Given the description of an element on the screen output the (x, y) to click on. 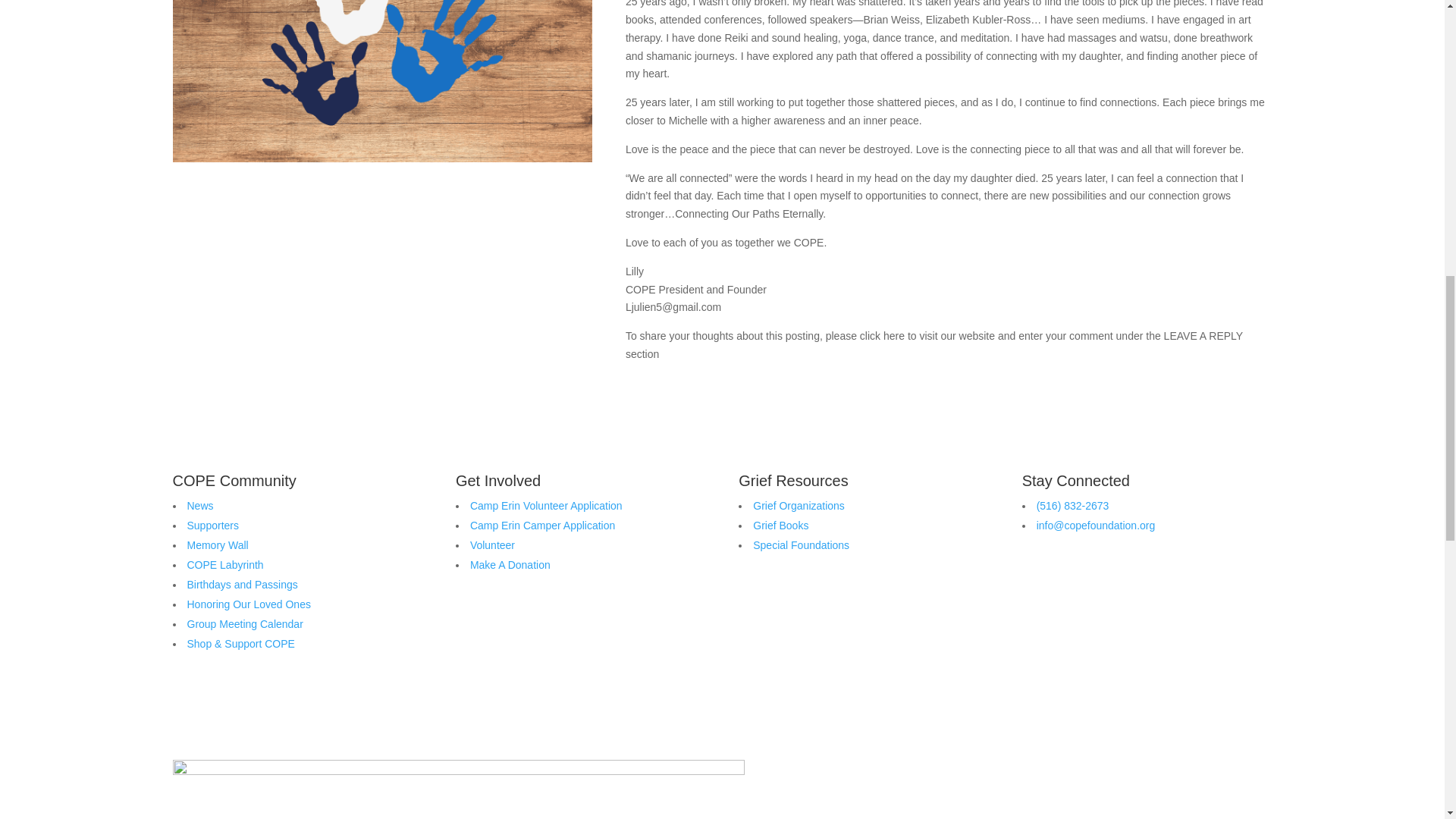
cope clear white (458, 789)
Follow on Instagram (1125, 581)
Follow on Youtube (1094, 581)
Follow on Facebook (1034, 581)
COPE Contributors (382, 80)
Follow on LinkedIn (1064, 581)
